Given the description of an element on the screen output the (x, y) to click on. 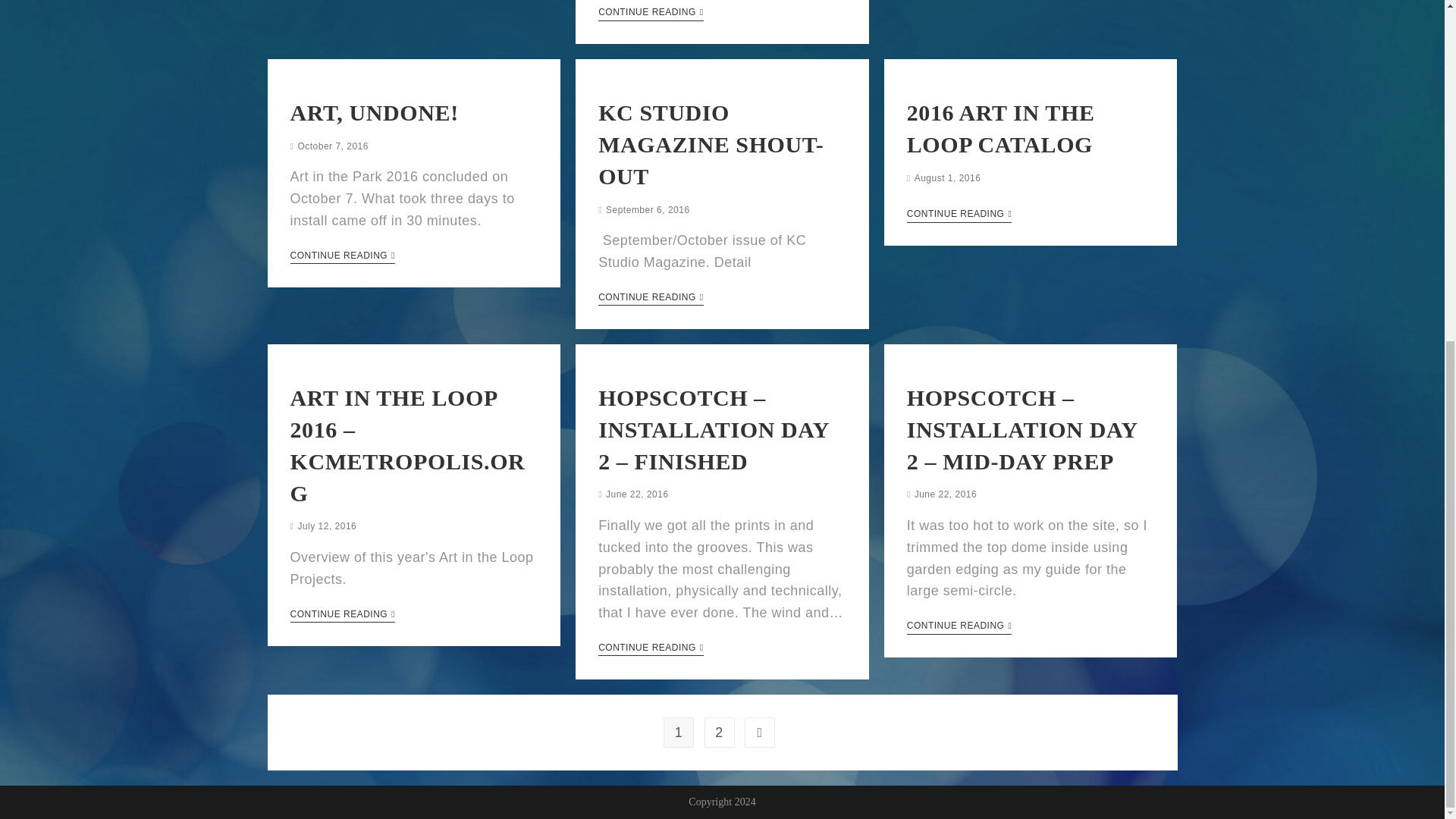
Continue Reading (341, 256)
Art, Undone! (373, 112)
CONTINUE READING (341, 256)
Continue Reading (341, 615)
KC STUDIO MAGAZINE SHOUT-OUT (711, 144)
2016 Art in the Loop Catalog (1000, 128)
ART, UNDONE! (373, 112)
Continue Reading (650, 298)
CONTINUE READING (650, 13)
Continue Reading (650, 649)
KC Studio Magazine Shout-out (711, 144)
Continue Reading (959, 214)
Continue Reading (650, 13)
